Given the description of an element on the screen output the (x, y) to click on. 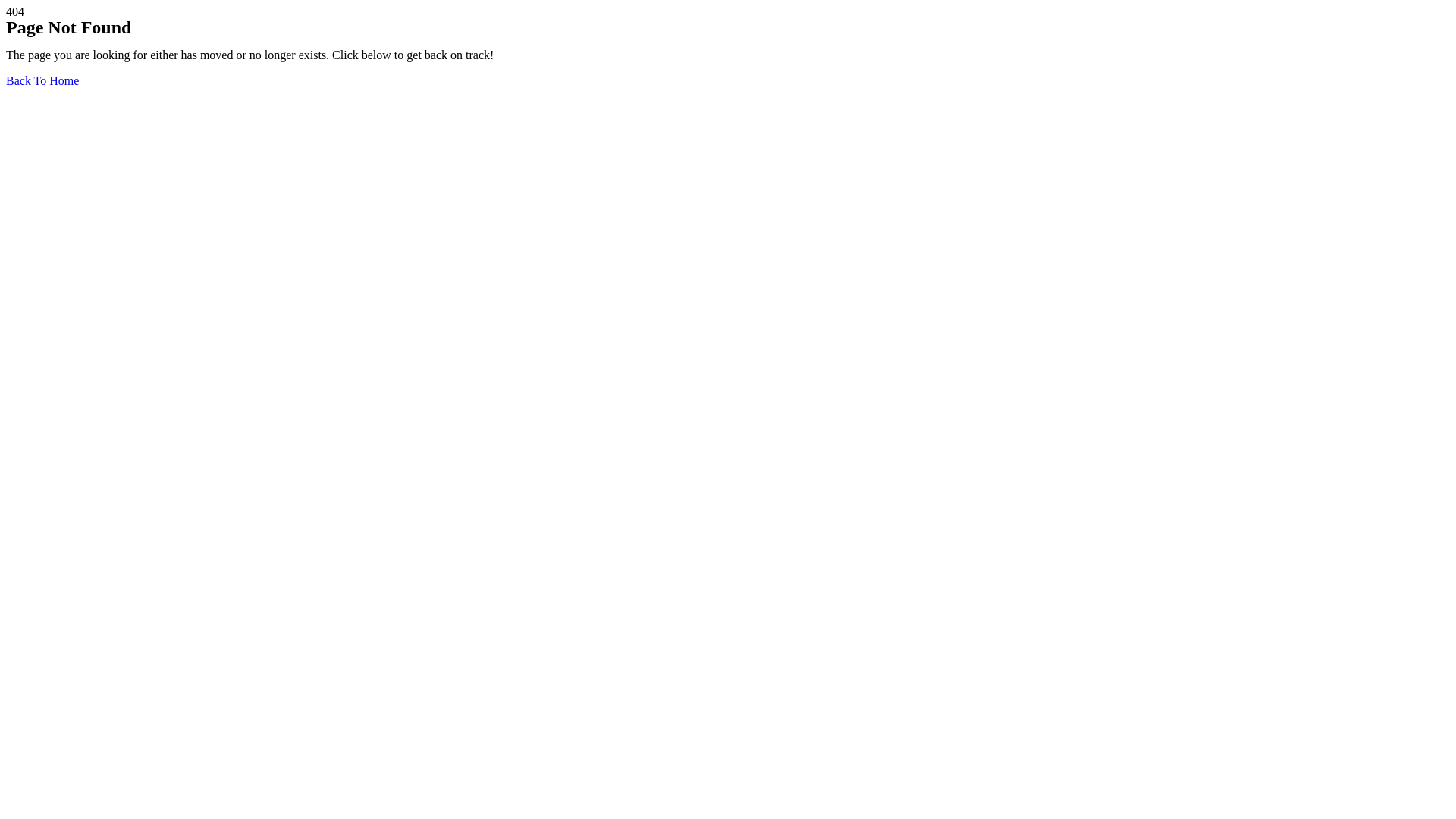
Back To Home Element type: text (42, 80)
